Given the description of an element on the screen output the (x, y) to click on. 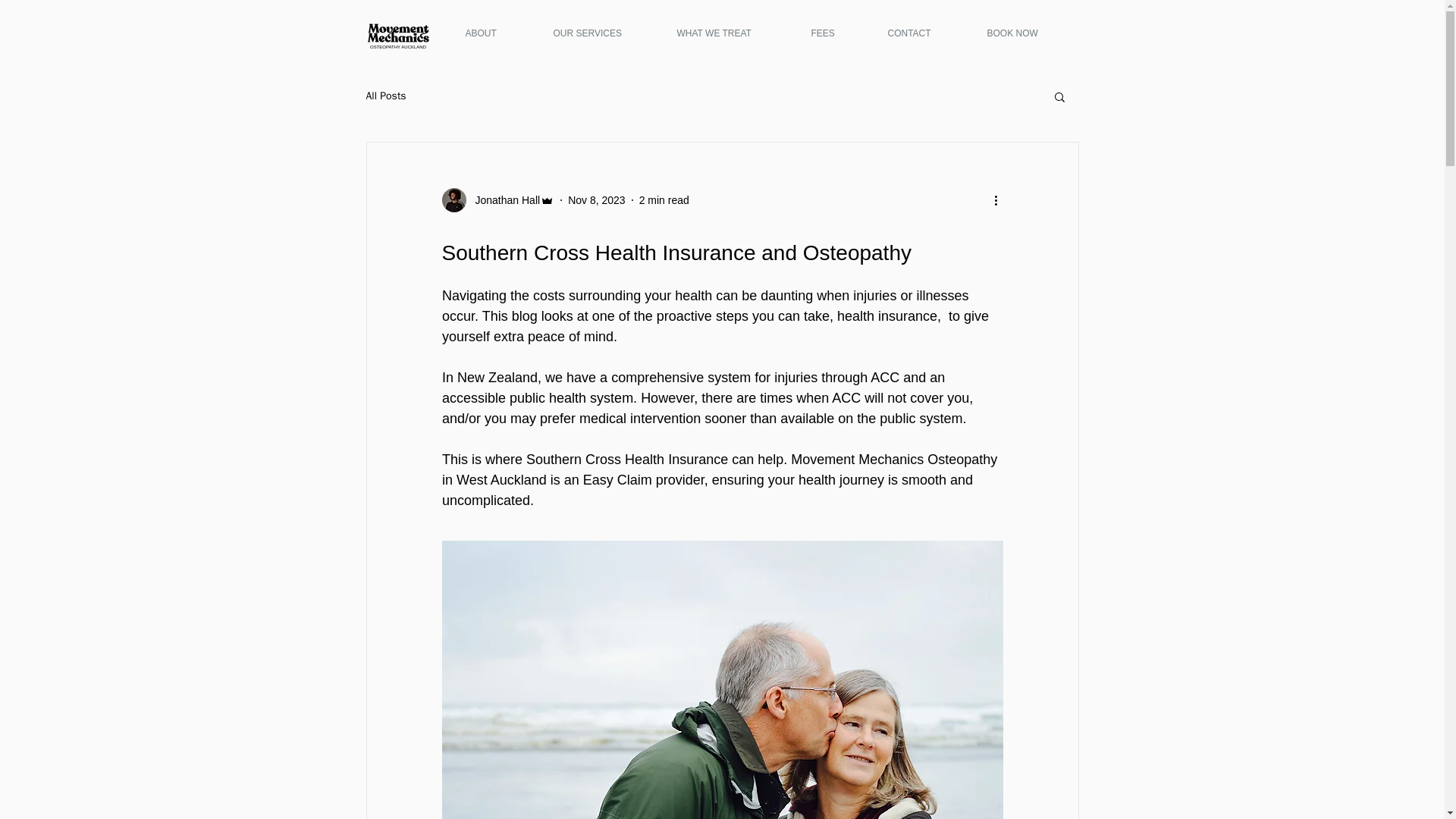
BOOK NOW (1029, 32)
ABOUT (496, 32)
FEES (837, 32)
2 min read (663, 200)
Nov 8, 2023 (596, 200)
CONTACT (925, 32)
Jonathan Hall (497, 200)
WHAT WE TREAT (732, 32)
All Posts (385, 96)
OUR SERVICES (603, 32)
Jonathan Hall (502, 200)
